Given the description of an element on the screen output the (x, y) to click on. 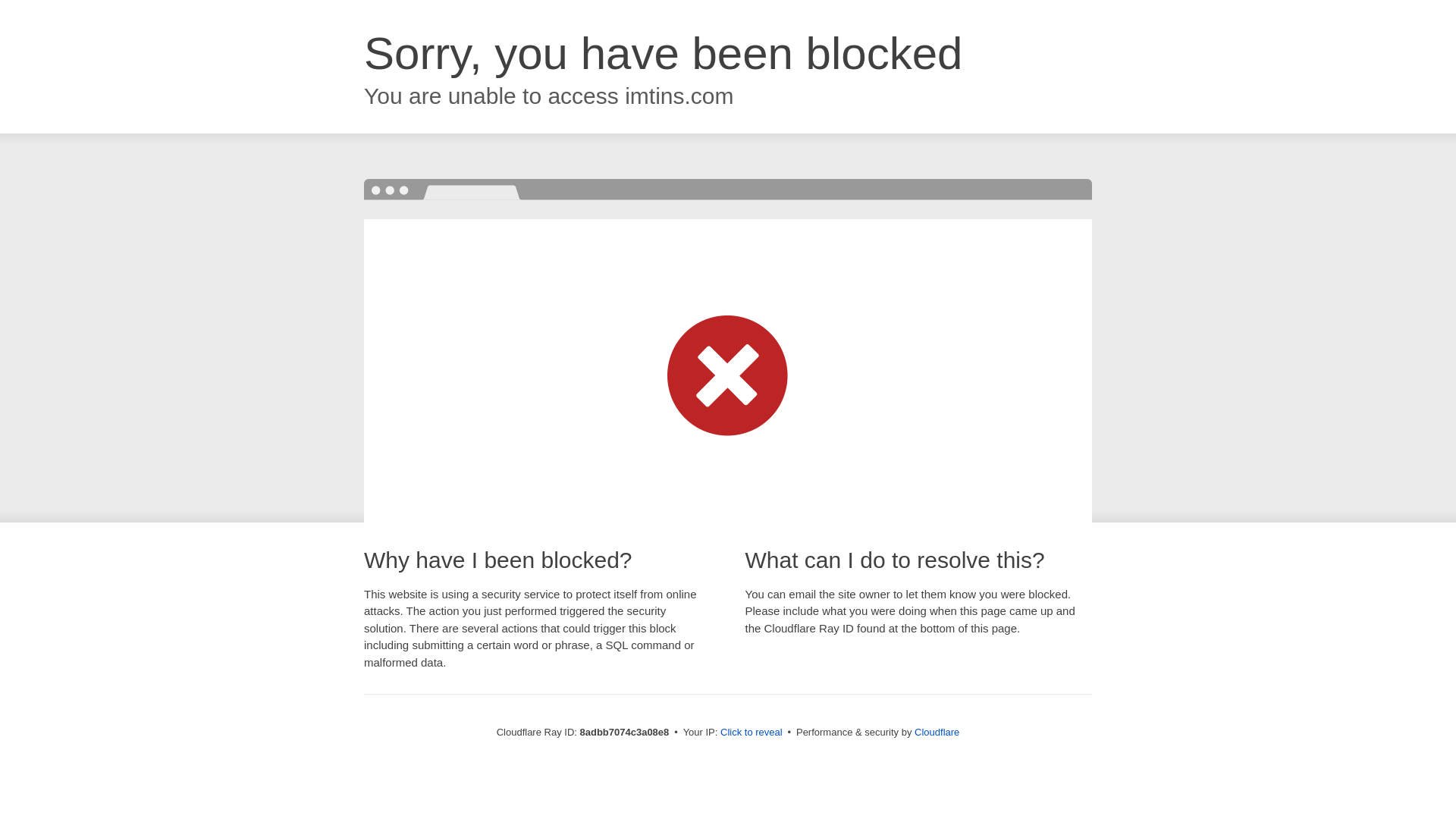
Cloudflare (936, 731)
Click to reveal (751, 732)
